Given the description of an element on the screen output the (x, y) to click on. 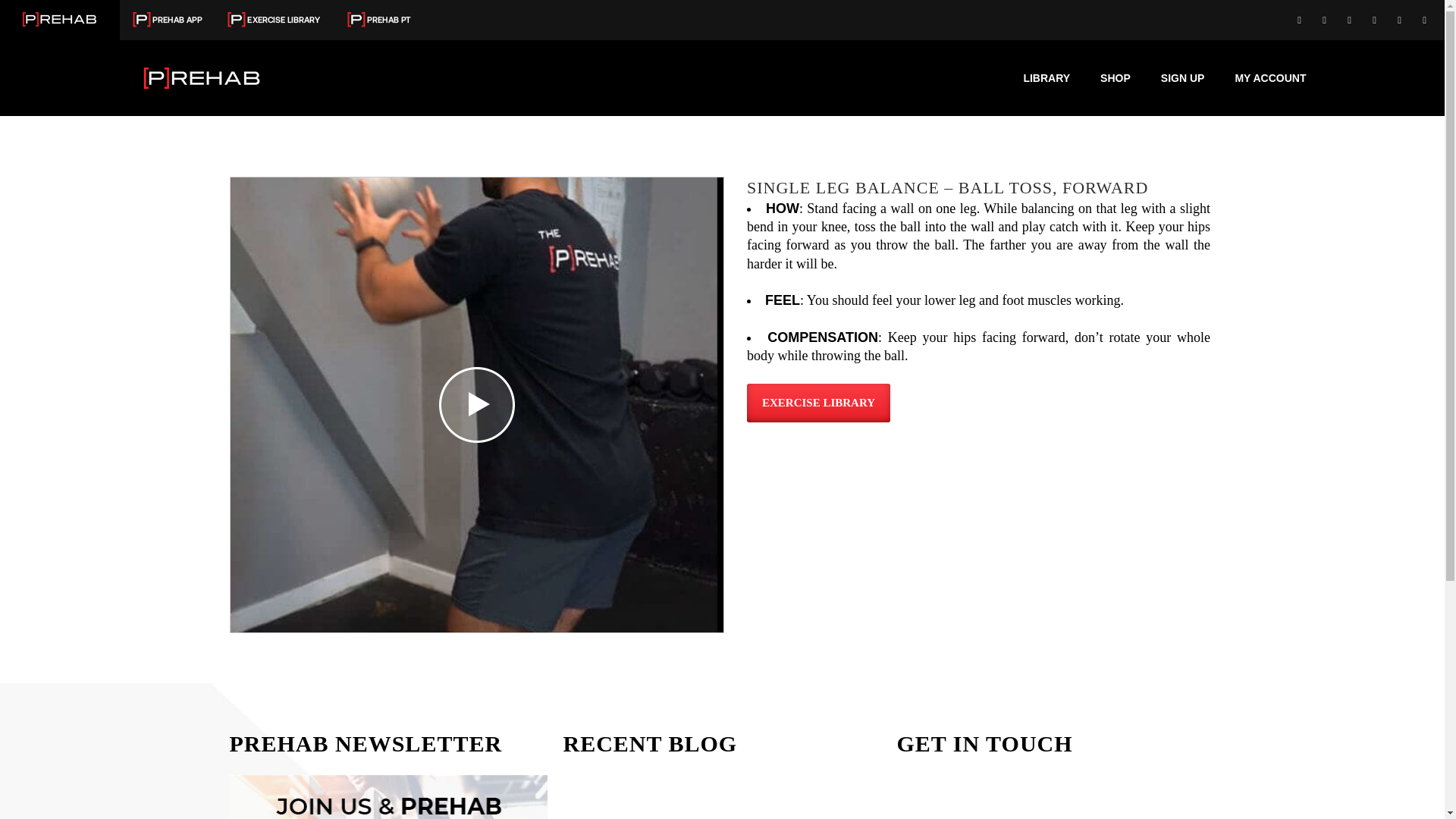
Form 0 (1055, 796)
